Given the description of an element on the screen output the (x, y) to click on. 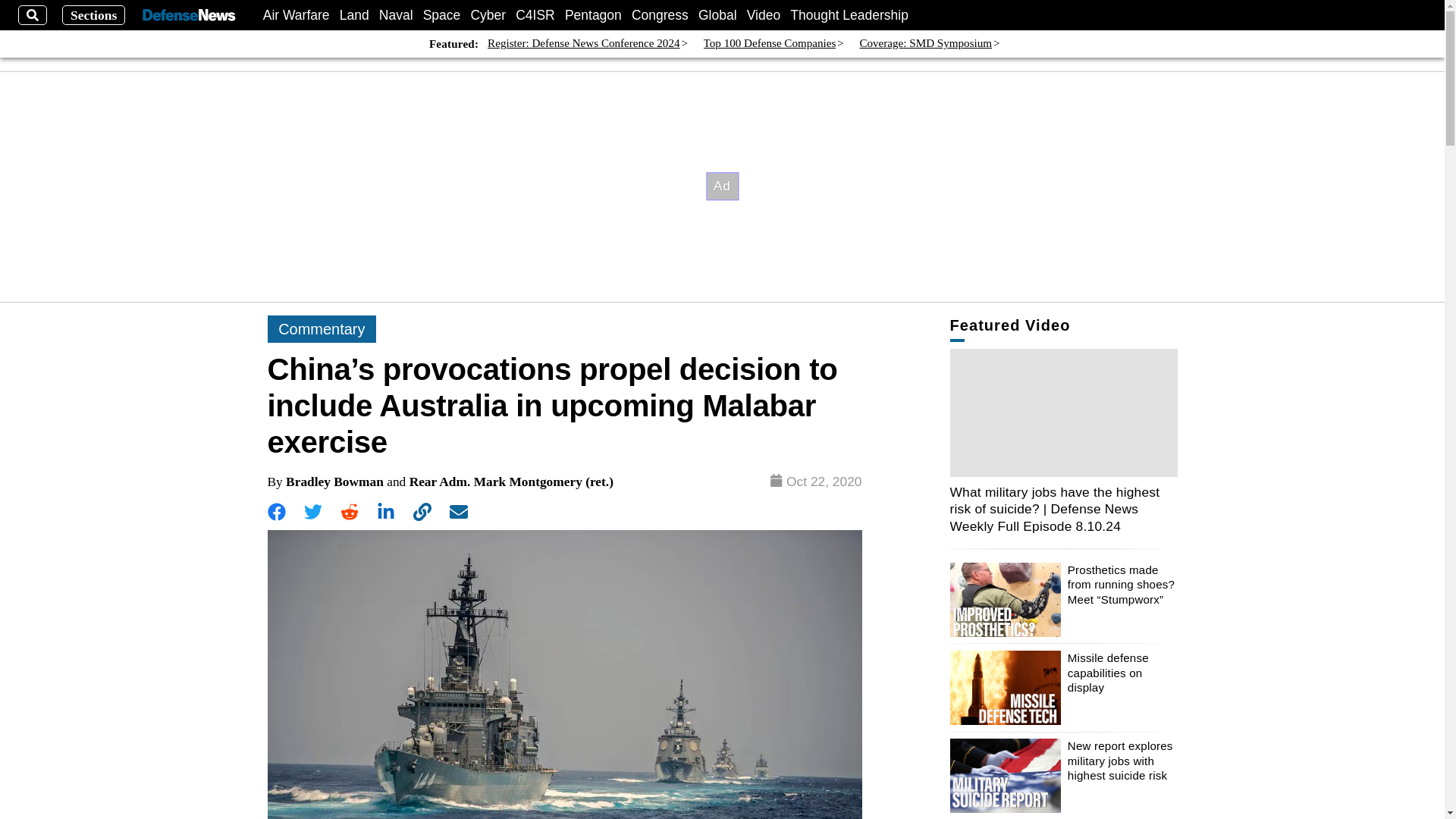
Sections (93, 14)
Naval (395, 14)
Air Warfare (296, 14)
Video (763, 14)
Pentagon (592, 14)
Global (717, 14)
Congress (659, 14)
3rd party ad content (722, 186)
Land (354, 14)
Defense News Logo (188, 14)
